Given the description of an element on the screen output the (x, y) to click on. 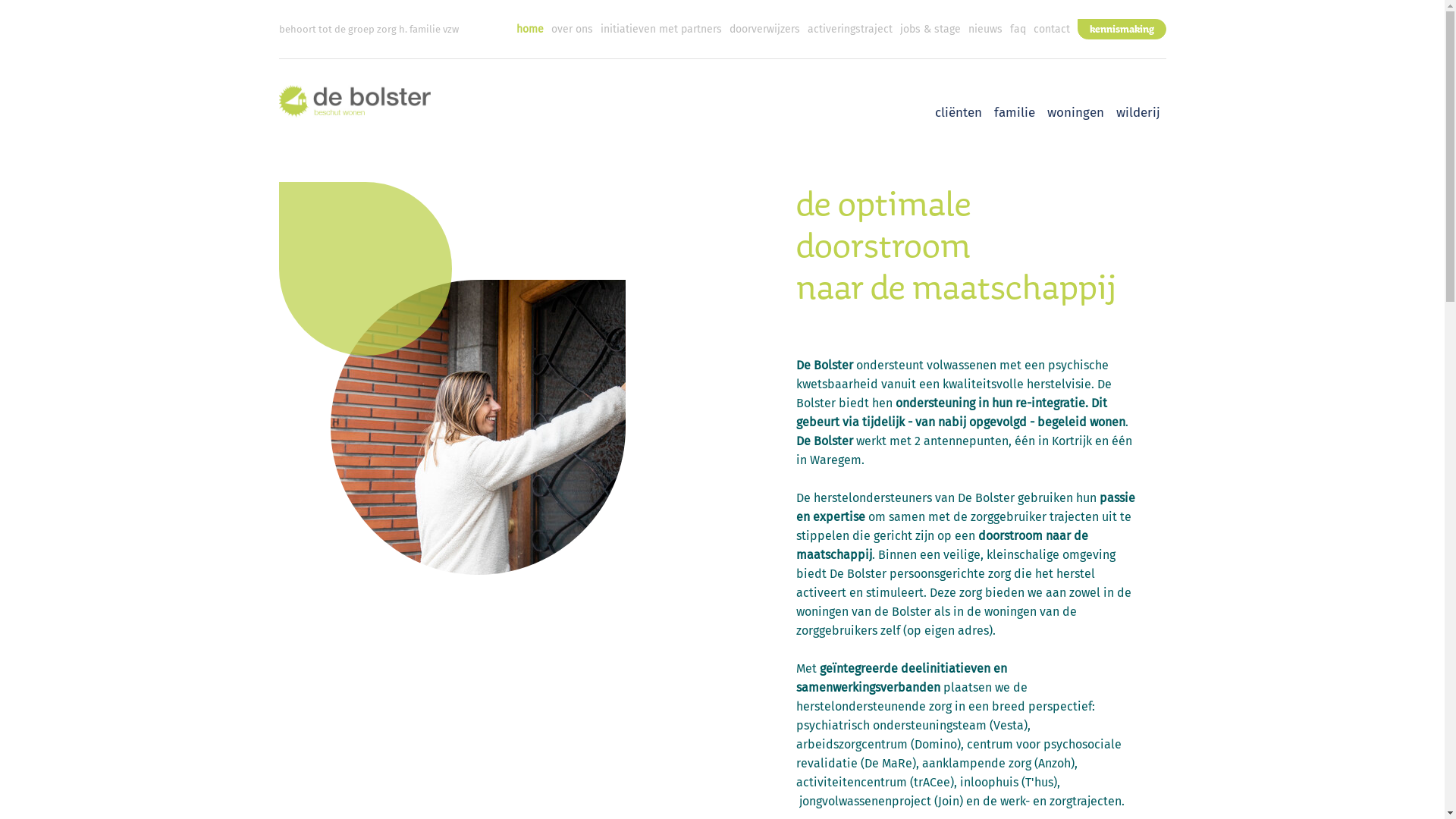
wilderij Element type: text (1138, 112)
faq Element type: text (1018, 28)
over ons Element type: text (571, 28)
woningen Element type: text (1074, 112)
activeringstraject Element type: text (848, 28)
nieuws Element type: text (984, 28)
jobs & stage Element type: text (929, 28)
home Element type: text (528, 28)
initiatieven met partners Element type: text (660, 28)
contact Element type: text (1050, 28)
behoort tot de groep zorg h. familie vzw Element type: text (368, 28)
kennismaking Element type: text (1120, 28)
familie Element type: text (1013, 112)
doorverwijzers Element type: text (764, 28)
